Given the description of an element on the screen output the (x, y) to click on. 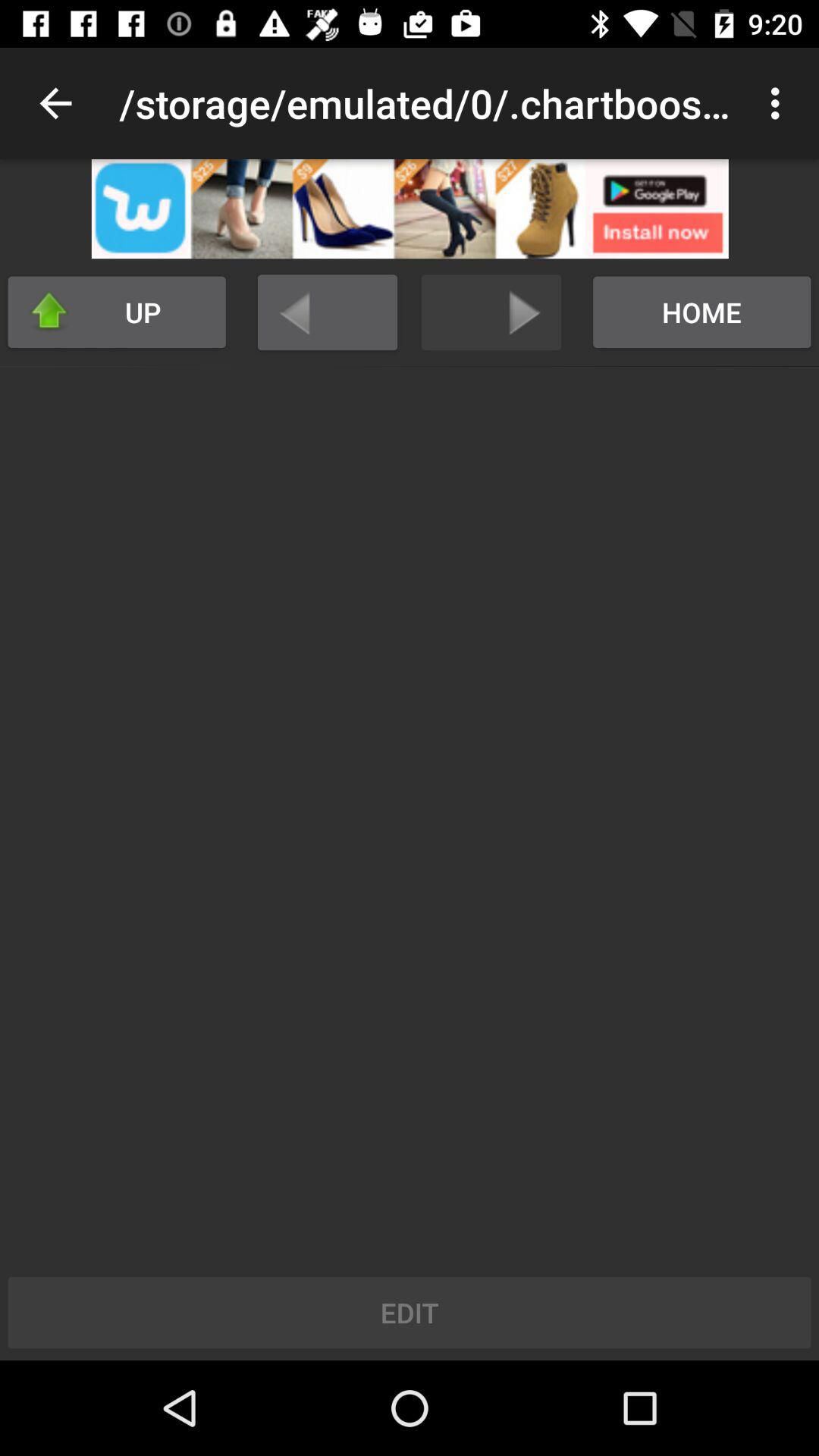
advert pop up (409, 208)
